Given the description of an element on the screen output the (x, y) to click on. 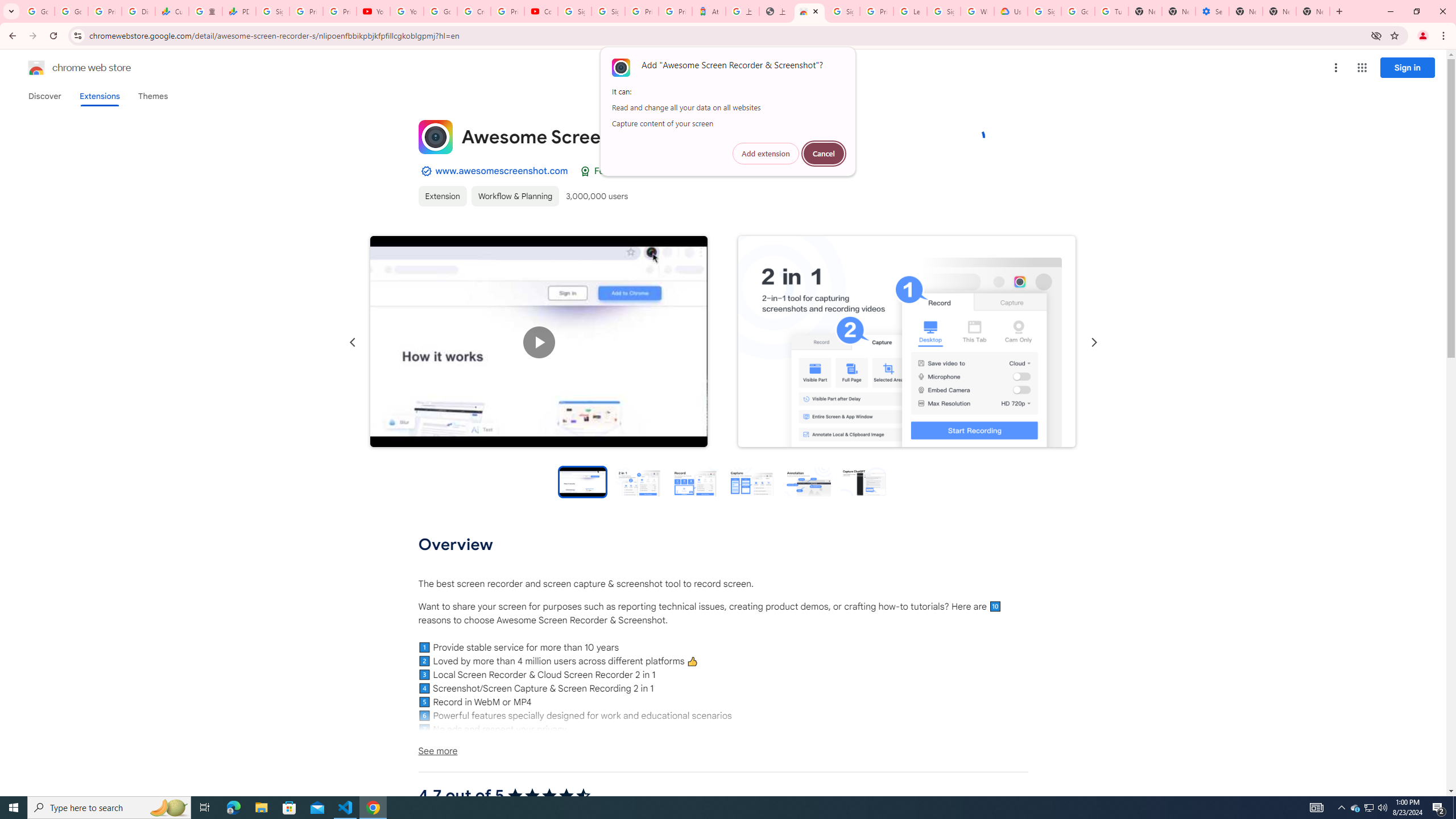
Q2790: 100% (1382, 807)
Search highlights icon opens search home window (167, 807)
Workflow & Planning (514, 195)
Create your Google Account (474, 11)
Preview slide 2 (638, 481)
By Established Publisher Badge (425, 170)
Sign in - Google Accounts (608, 11)
Themes (152, 95)
Previous slide (352, 342)
Next slide (1093, 342)
